Given the description of an element on the screen output the (x, y) to click on. 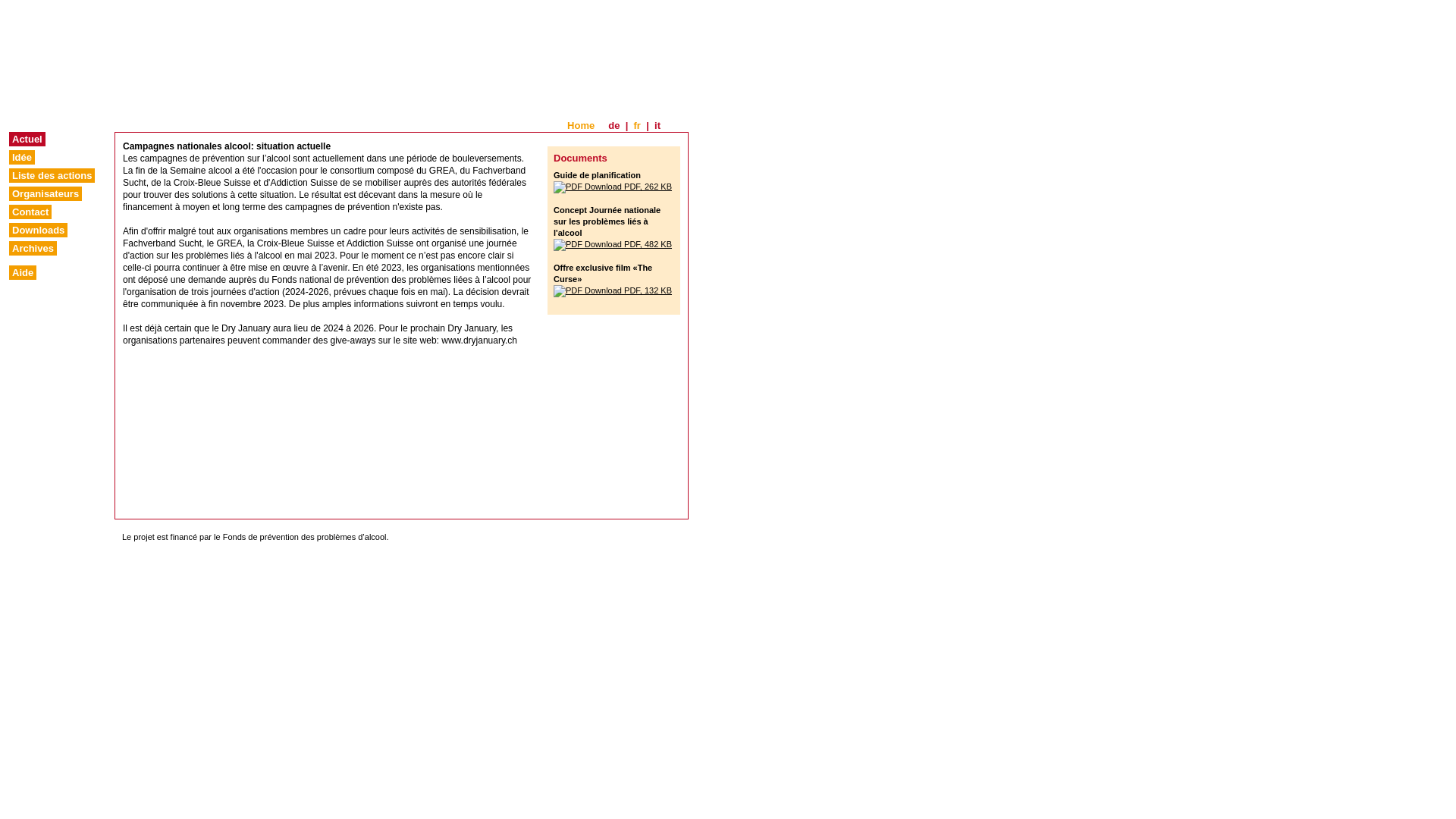
de Element type: text (613, 125)
 PDF, 482 KB Element type: text (612, 243)
Organisateurs Element type: text (45, 193)
 PDF, 132 KB Element type: text (612, 289)
Contact Element type: text (30, 211)
it Element type: text (657, 125)
Archives Element type: text (32, 248)
 PDF, 262 KB Element type: text (612, 186)
Aide Element type: text (22, 272)
Downloads Element type: text (38, 229)
Liste des actions Element type: text (51, 175)
